Given the description of an element on the screen output the (x, y) to click on. 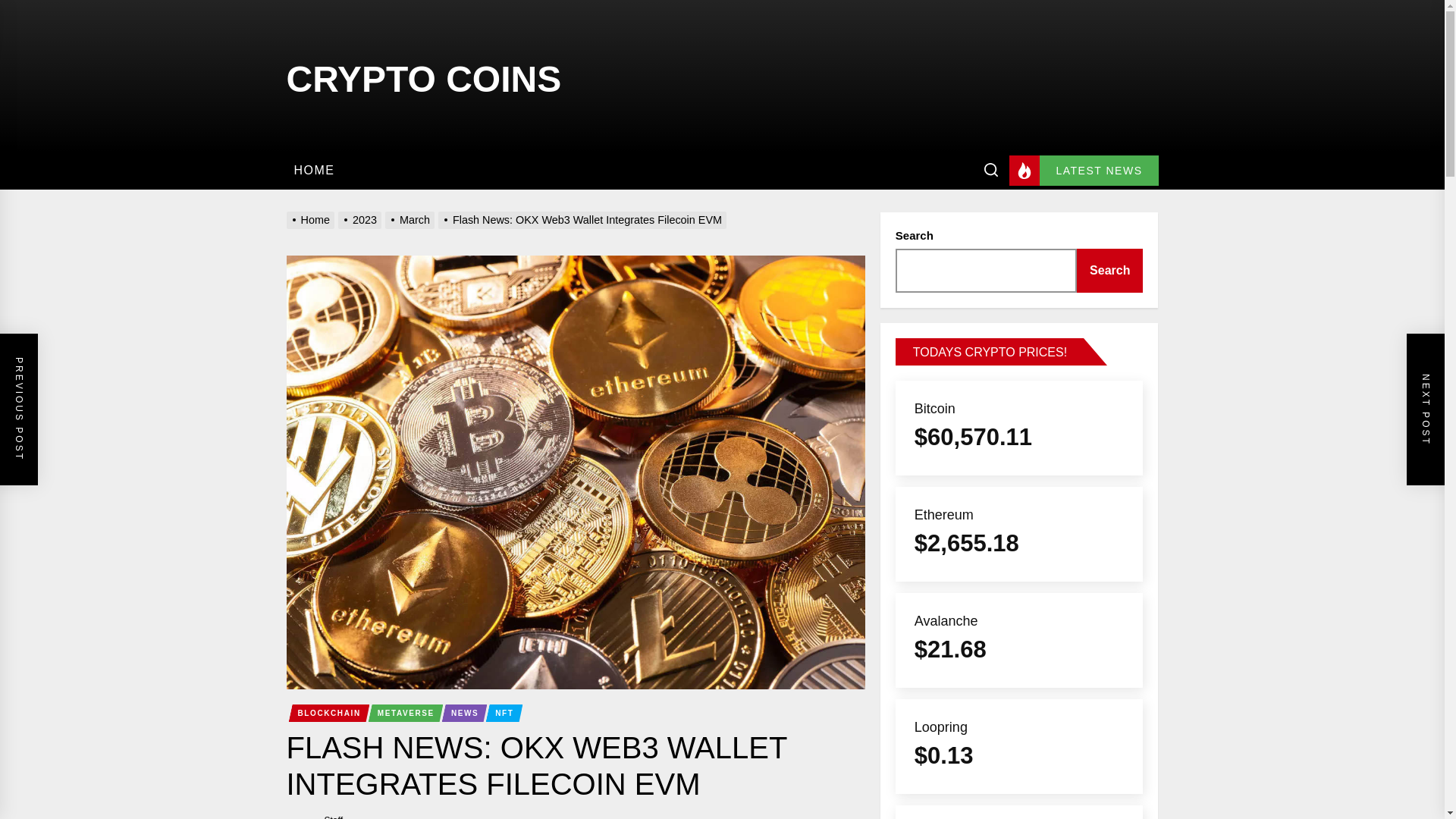
March (411, 219)
2023 (361, 219)
Home (311, 219)
Flash News: OKX Web3 Wallet Integrates Filecoin EVM (584, 219)
CRYPTO COINS (424, 75)
LATEST NEWS (1083, 170)
HOME (314, 170)
